Given the description of an element on the screen output the (x, y) to click on. 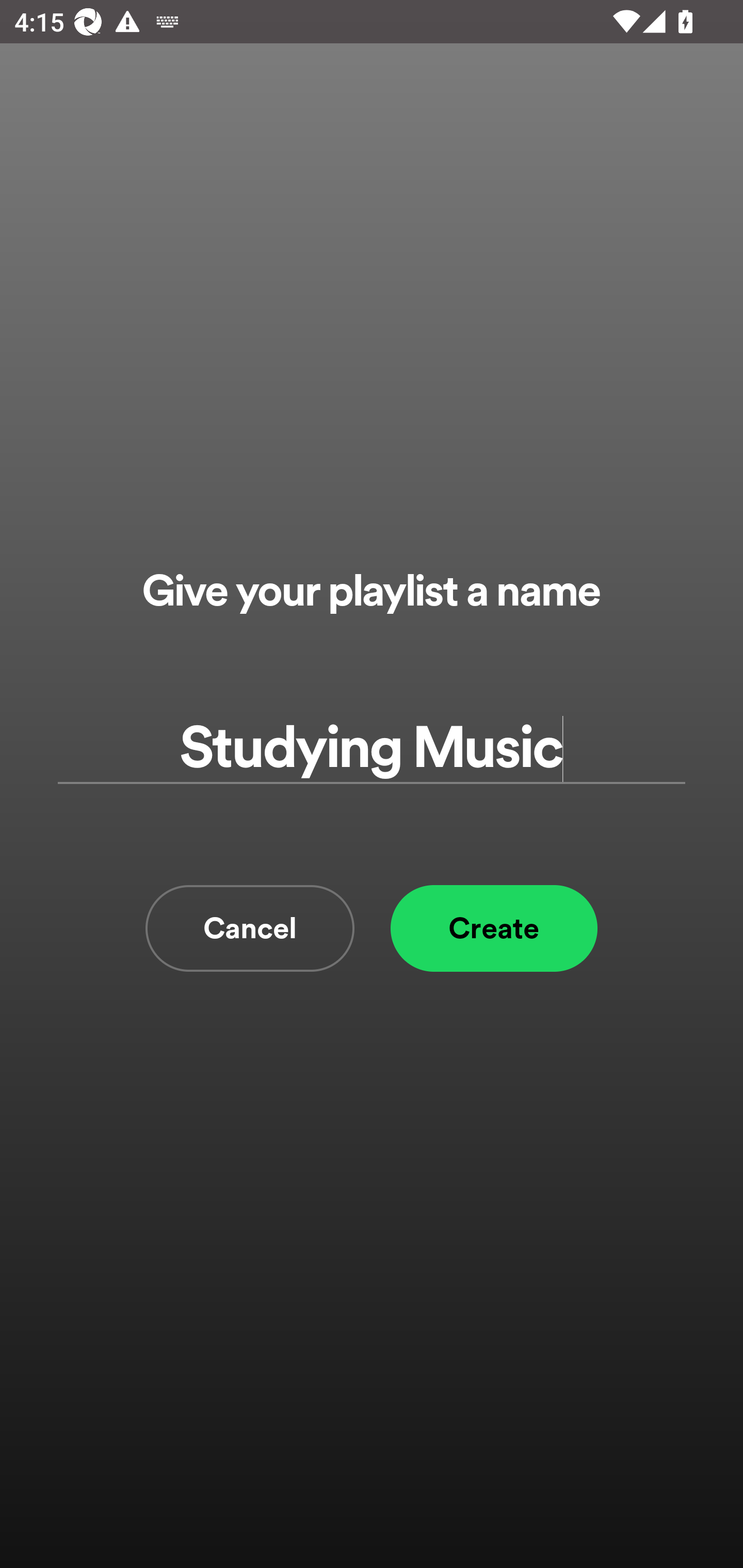
Studying Music Add a playlist name (371, 749)
Cancel (249, 928)
Create (493, 928)
